Given the description of an element on the screen output the (x, y) to click on. 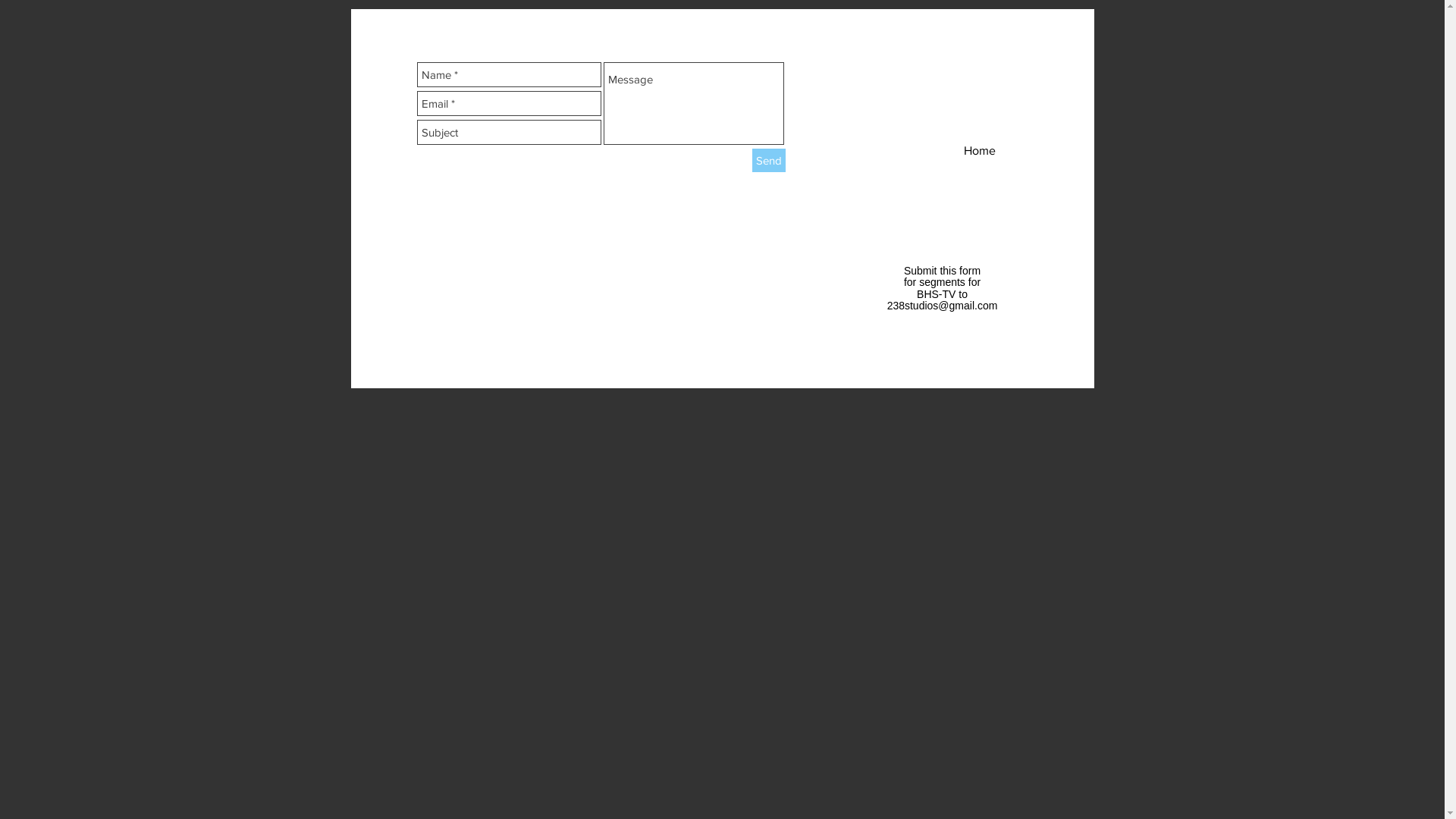
238studios@gmail.com Element type: text (942, 305)
Send Element type: text (768, 160)
